Given the description of an element on the screen output the (x, y) to click on. 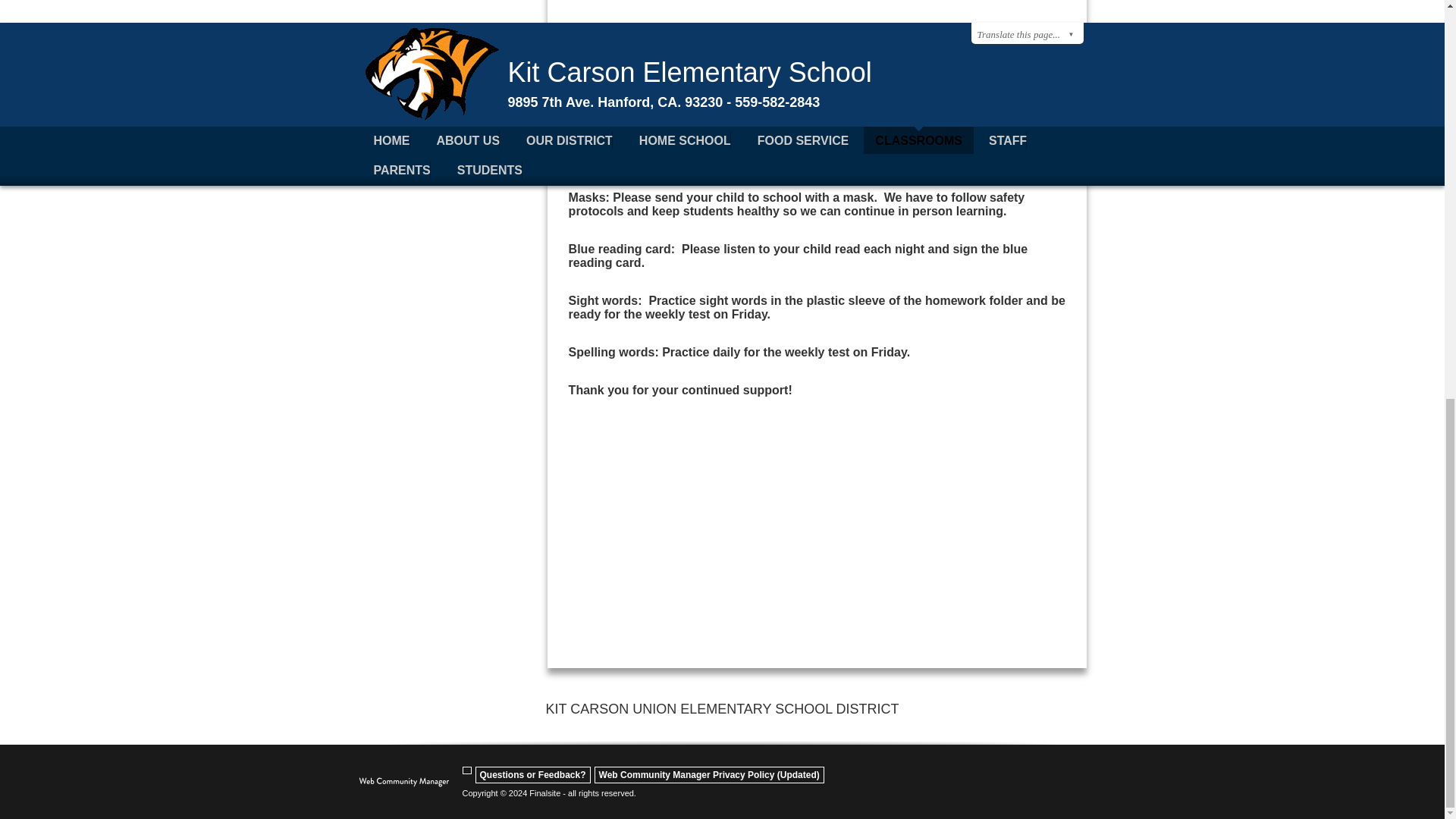
Finalsite - all rights reserved (403, 785)
